Given the description of an element on the screen output the (x, y) to click on. 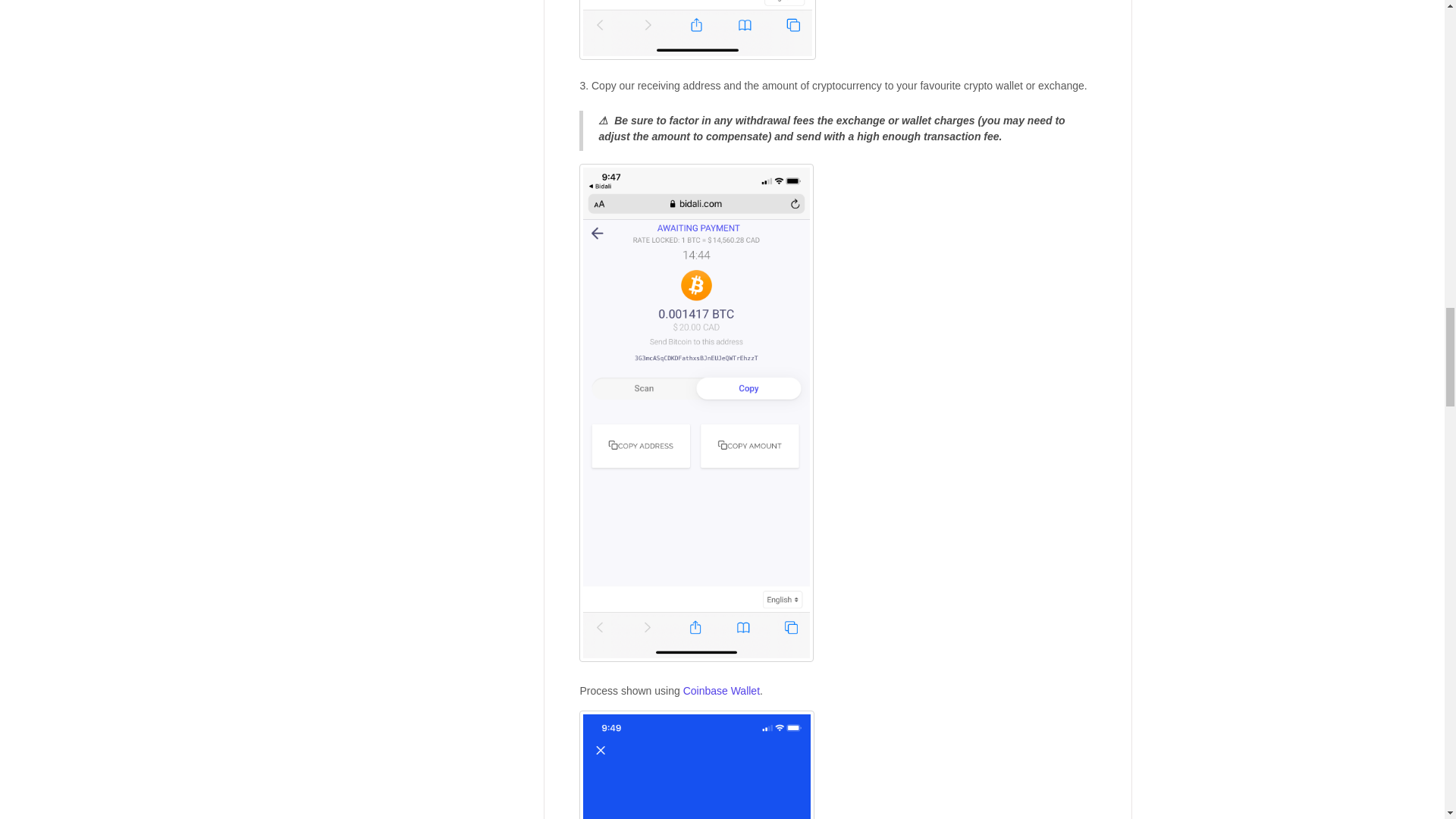
Coinbase Wallet (721, 690)
